Given the description of an element on the screen output the (x, y) to click on. 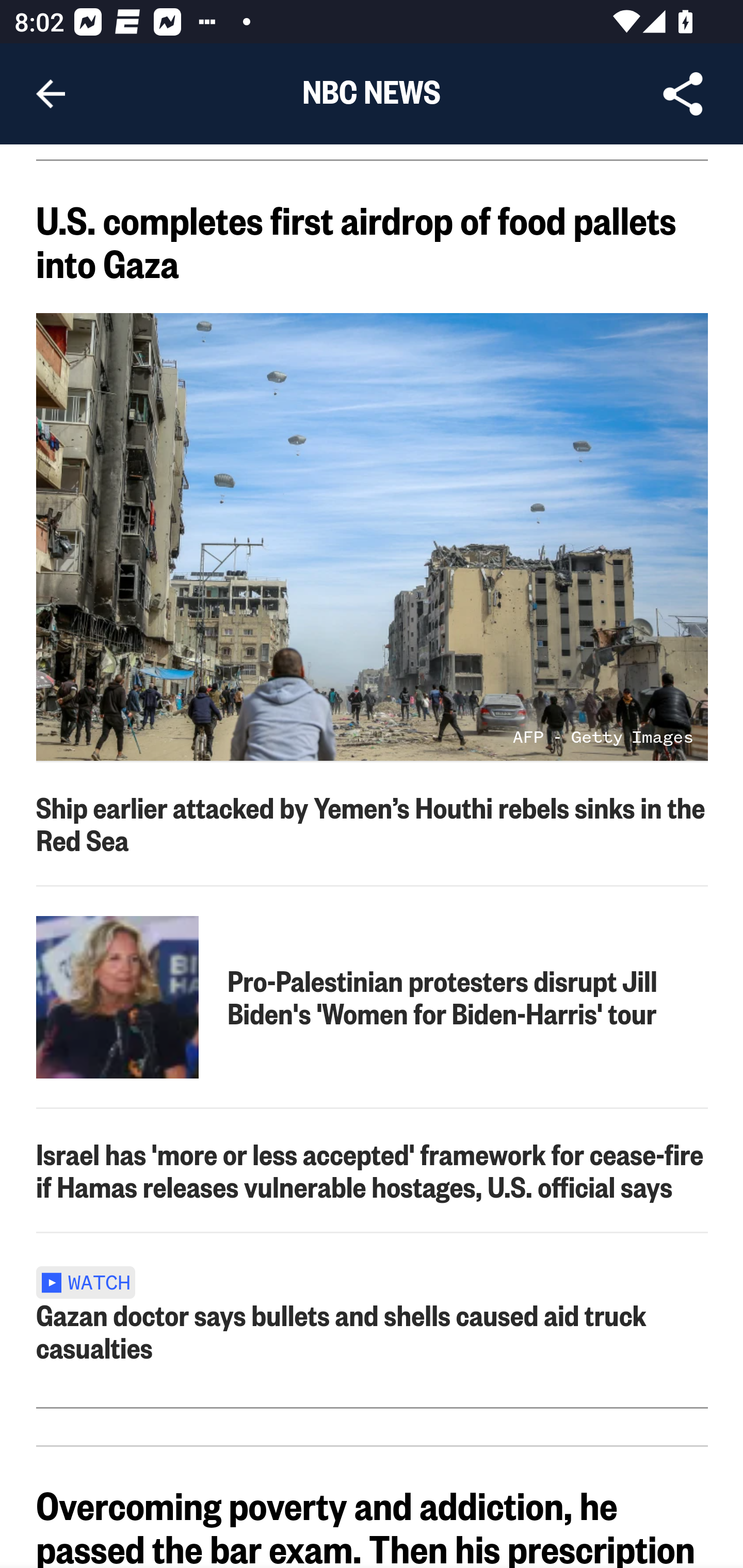
Navigate up (50, 93)
Share Article, button (683, 94)
WATCH WATCH WATCH WATCH (91, 1280)
